Given the description of an element on the screen output the (x, y) to click on. 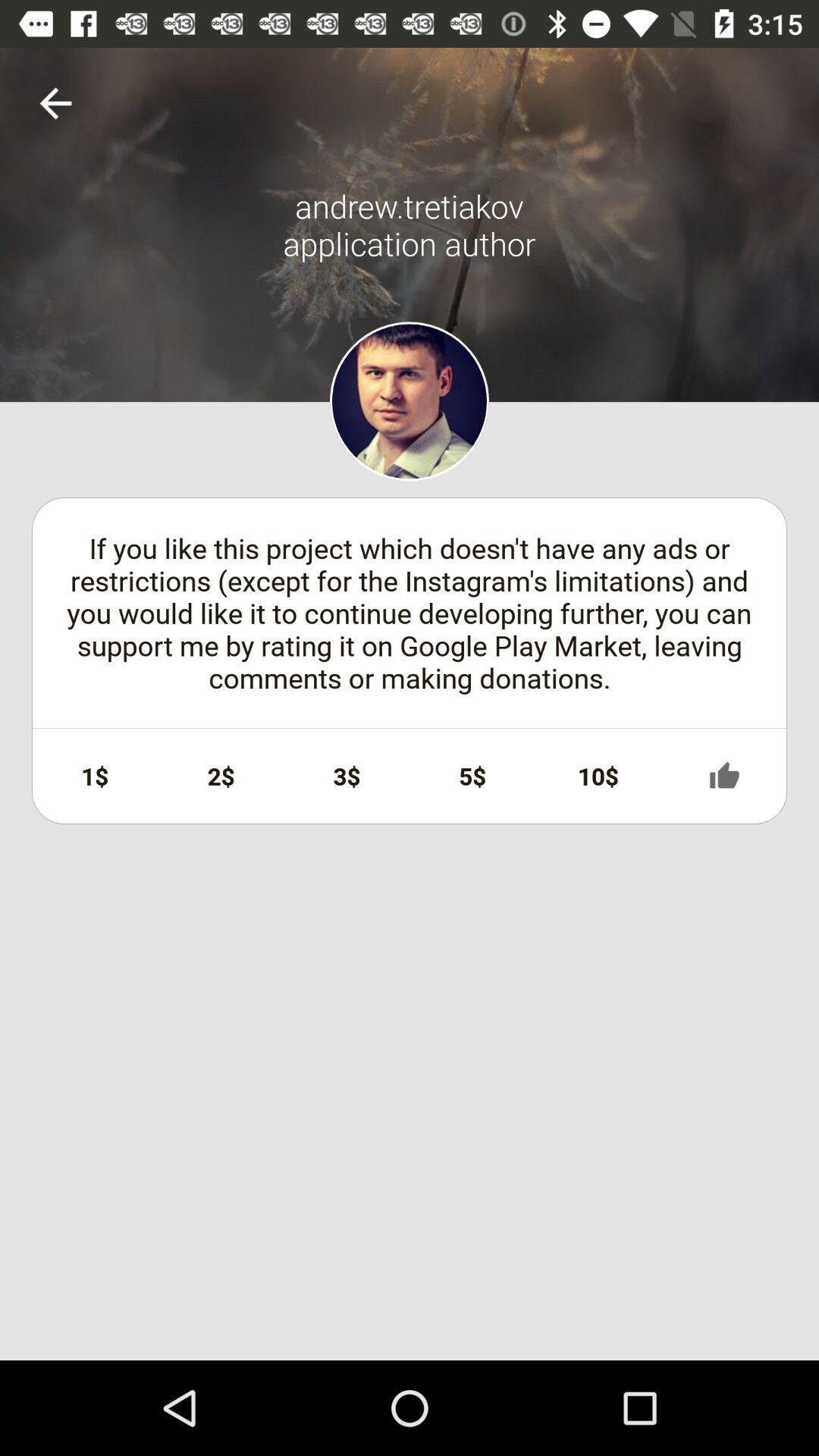
go back (55, 103)
